Given the description of an element on the screen output the (x, y) to click on. 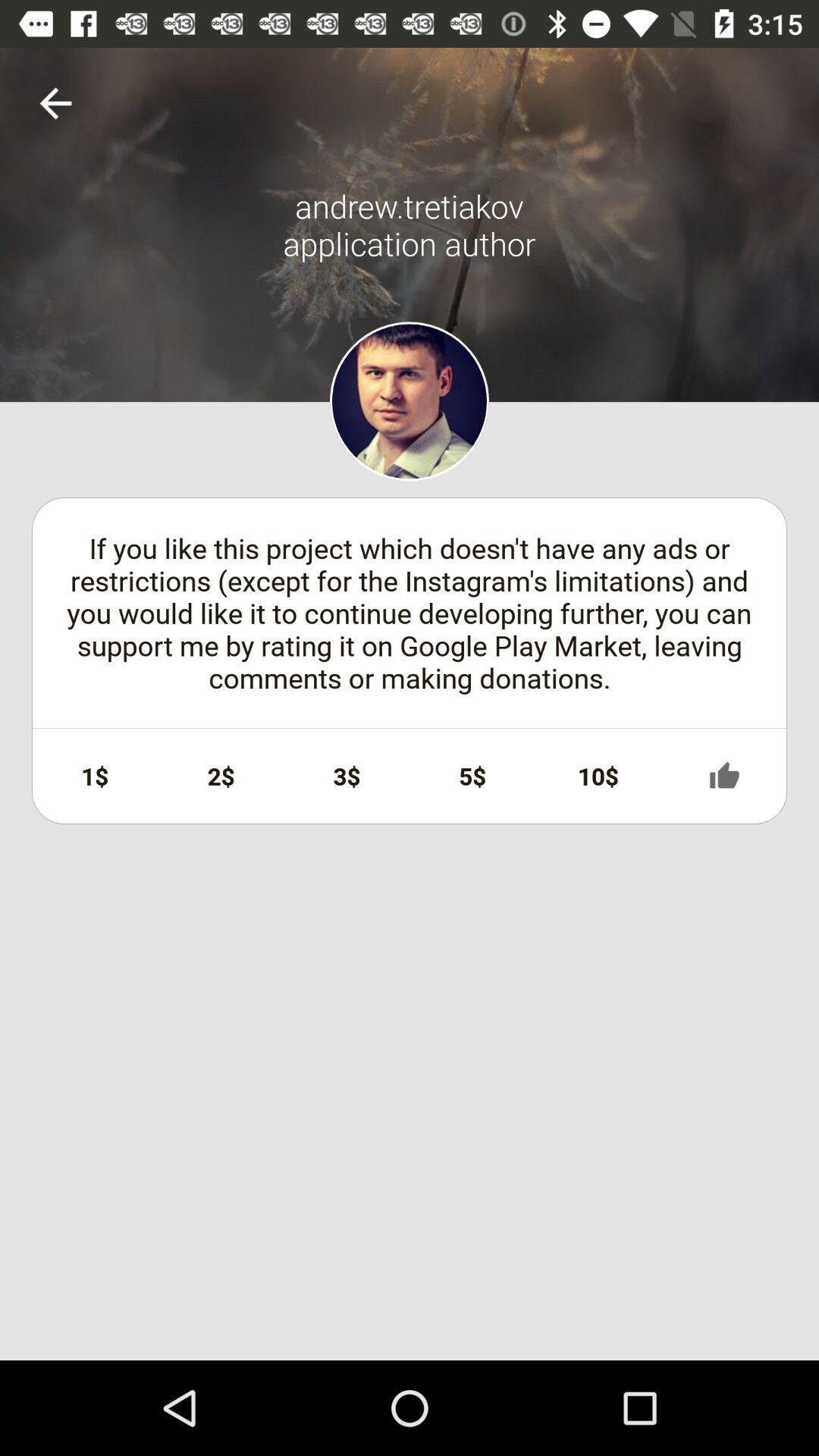
go back (55, 103)
